Given the description of an element on the screen output the (x, y) to click on. 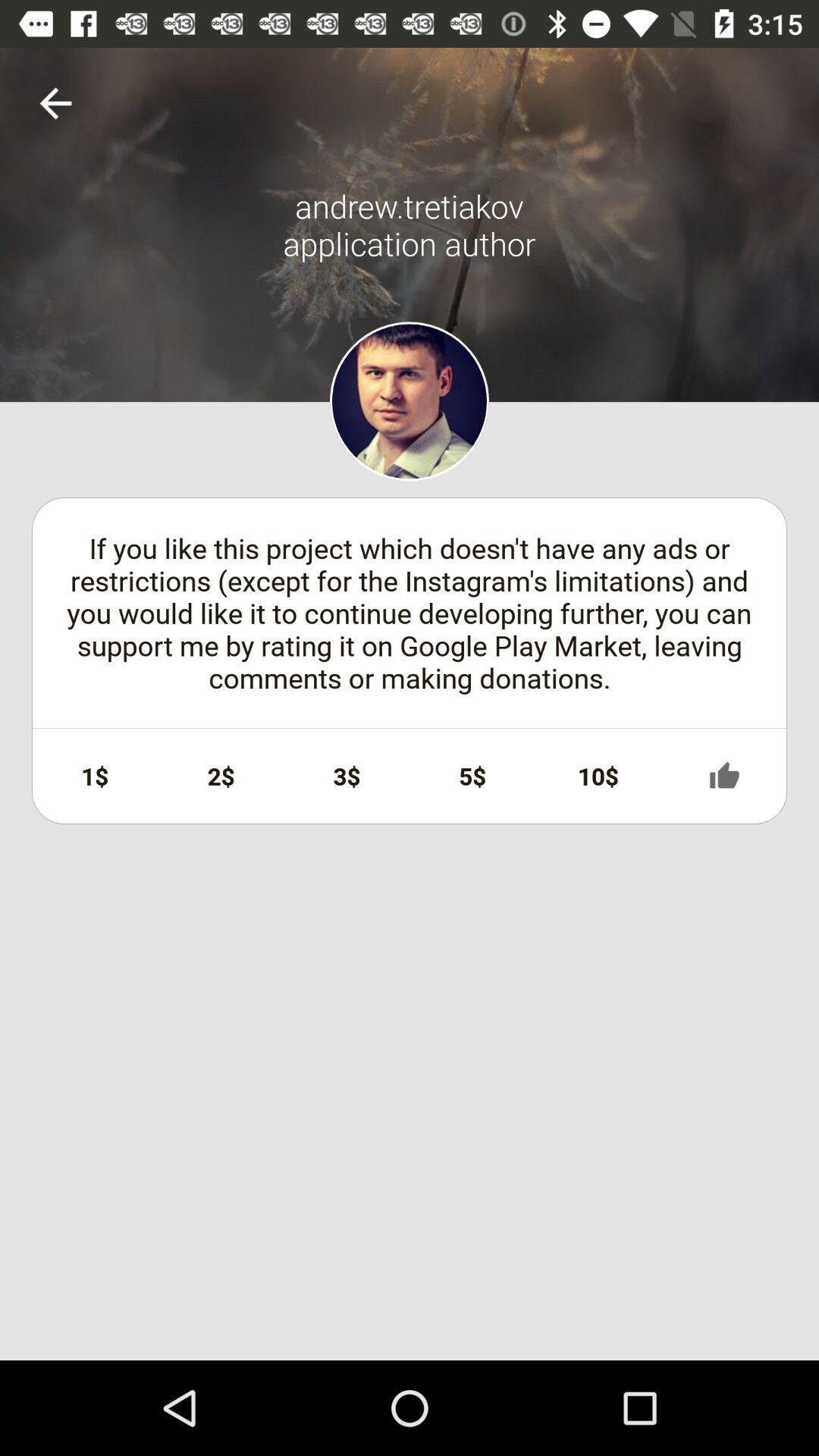
go back (55, 103)
